Given the description of an element on the screen output the (x, y) to click on. 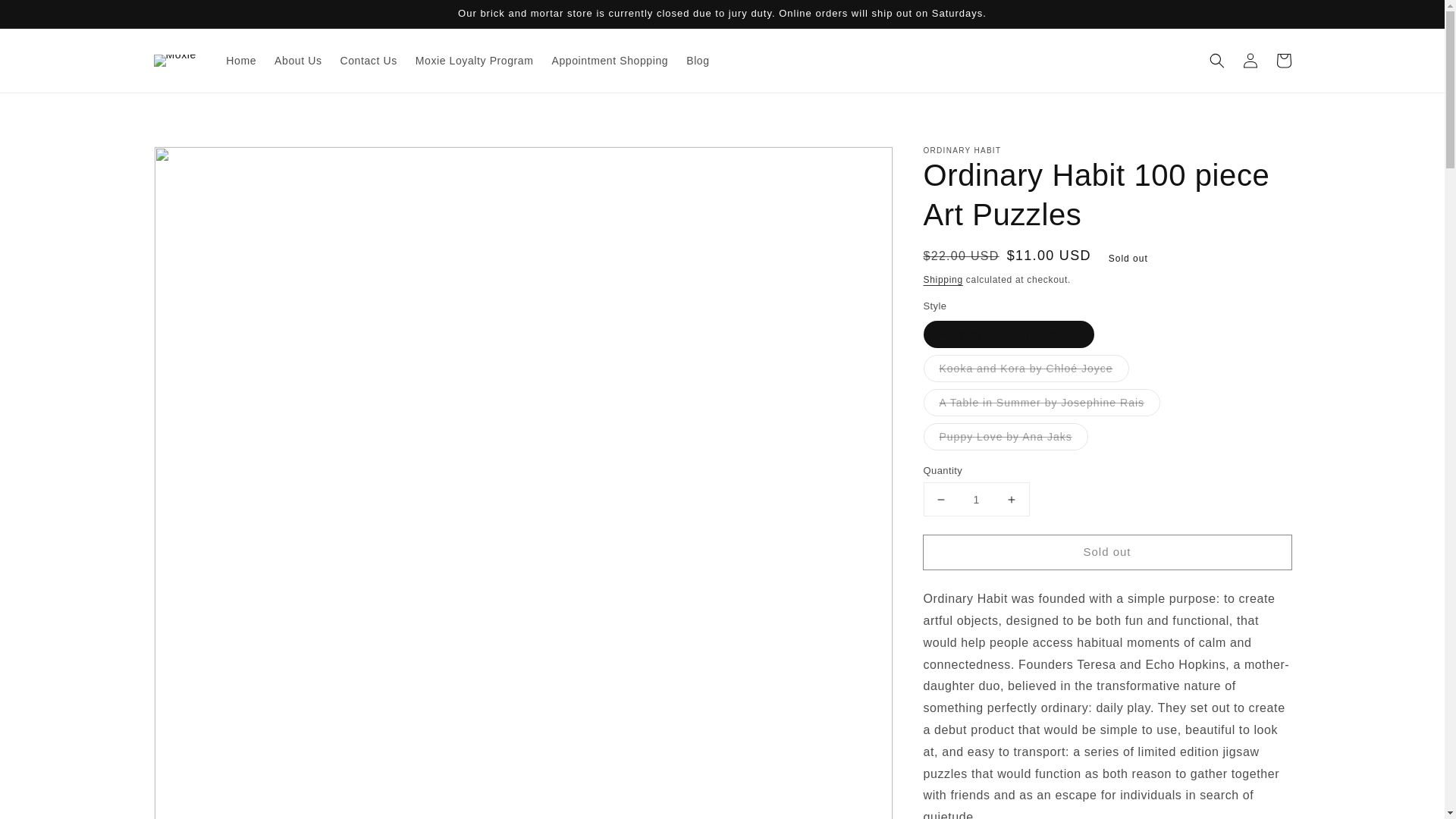
Decrease quantity for Ordinary Habit 100 piece Art Puzzles (940, 499)
Skip to product information (198, 162)
Home (240, 60)
About Us (297, 60)
Log in (1249, 60)
Appointment Shopping (610, 60)
Sold out (1107, 552)
Contact Us (368, 60)
Cart (1283, 60)
